Given the description of an element on the screen output the (x, y) to click on. 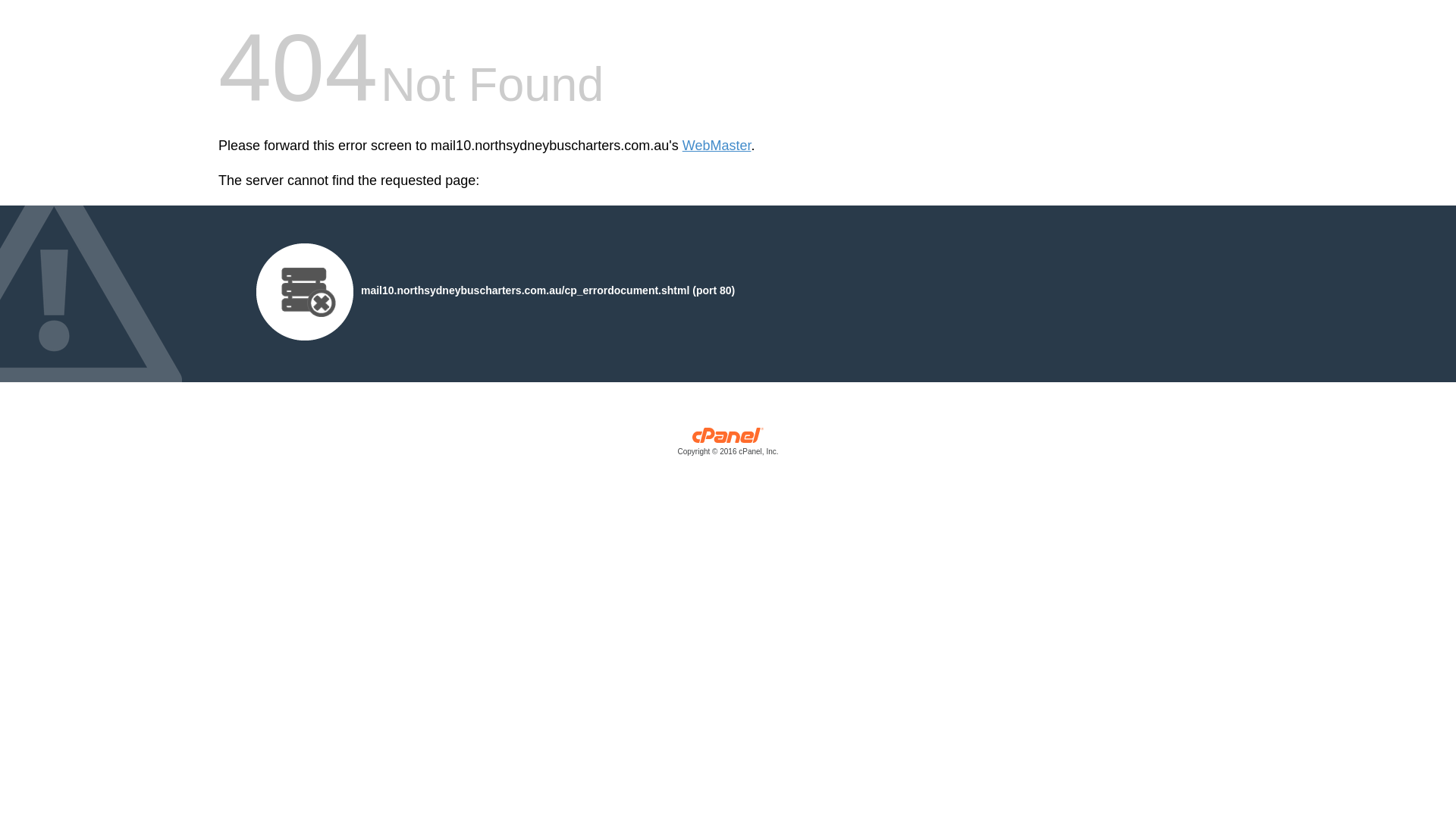
WebMaster Element type: text (716, 145)
